Given the description of an element on the screen output the (x, y) to click on. 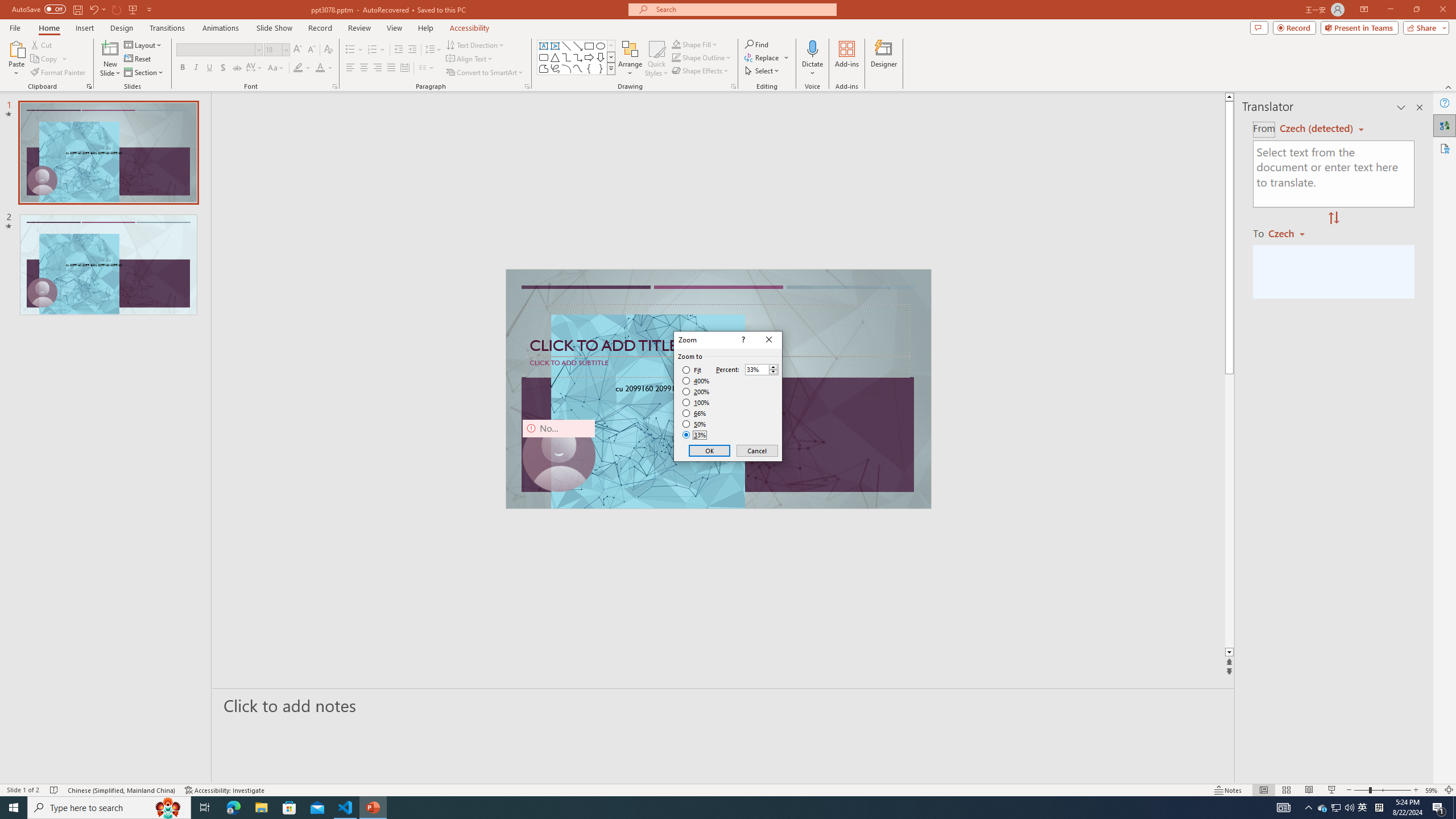
Percent (756, 369)
Character Spacing (254, 67)
System Promoted Notification Area (1322, 807)
